Given the description of an element on the screen output the (x, y) to click on. 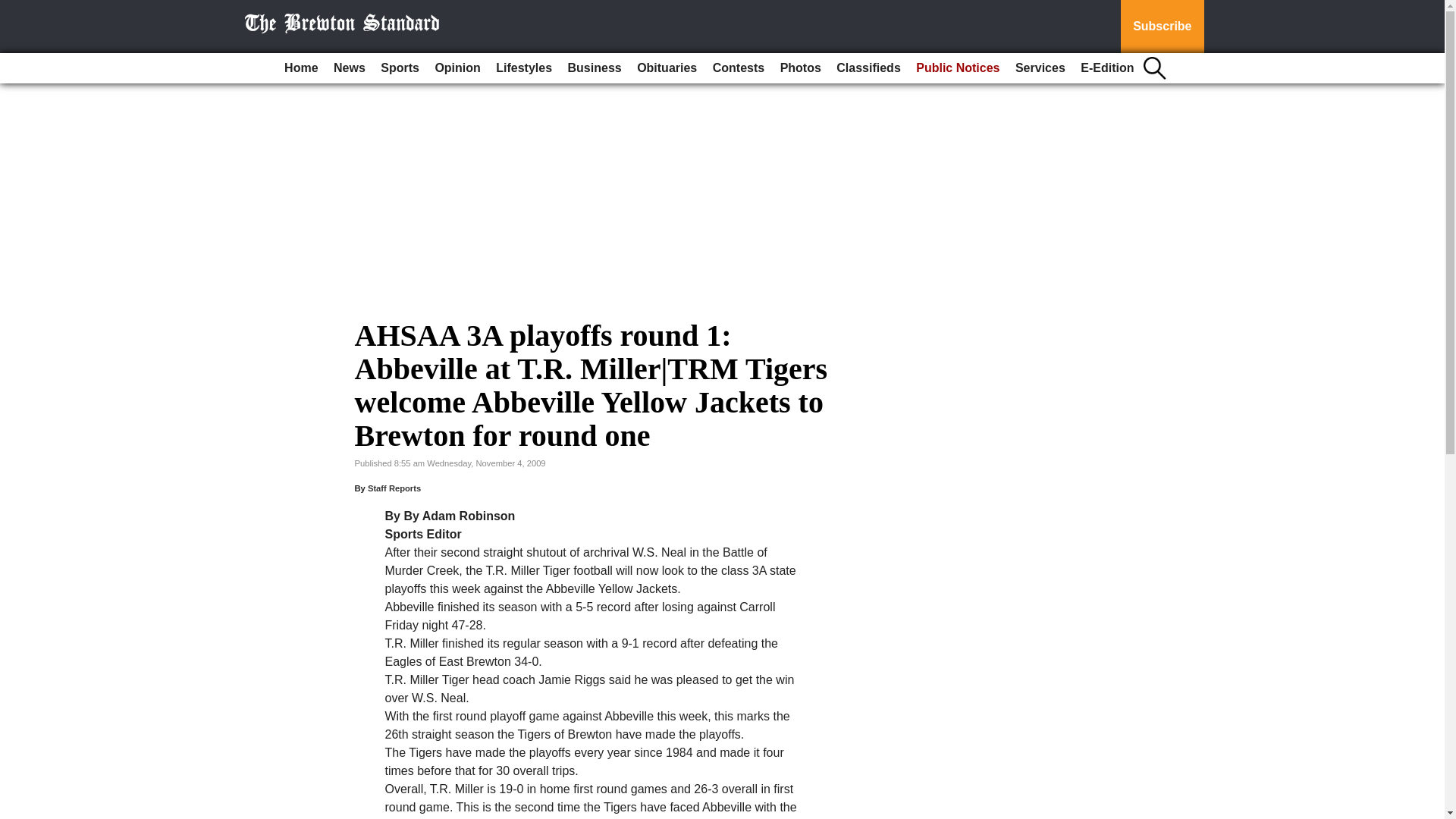
Photos (800, 68)
Classifieds (867, 68)
Opinion (457, 68)
Business (594, 68)
Subscribe (1162, 26)
E-Edition (1107, 68)
Lifestyles (523, 68)
Go (13, 9)
News (349, 68)
Sports (399, 68)
